Given the description of an element on the screen output the (x, y) to click on. 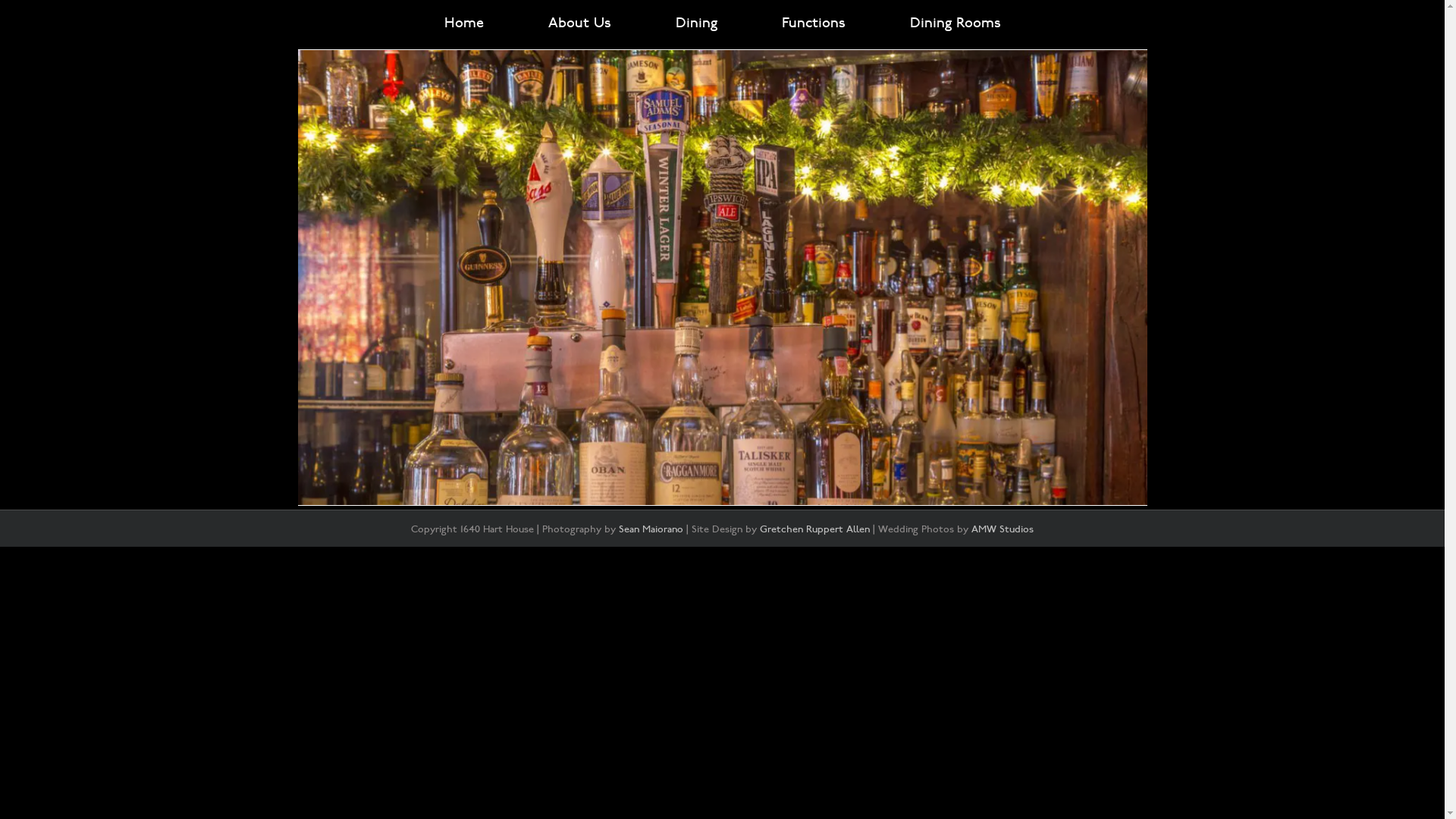
About Us Element type: text (578, 22)
Home Element type: text (463, 22)
Functions Element type: text (812, 22)
Dining Rooms Element type: text (955, 22)
Gretchen Ruppert Allen Element type: text (814, 529)
Dining Element type: text (695, 22)
AMW Studios Element type: text (1002, 529)
Sean Maiorano Element type: text (650, 529)
